Given the description of an element on the screen output the (x, y) to click on. 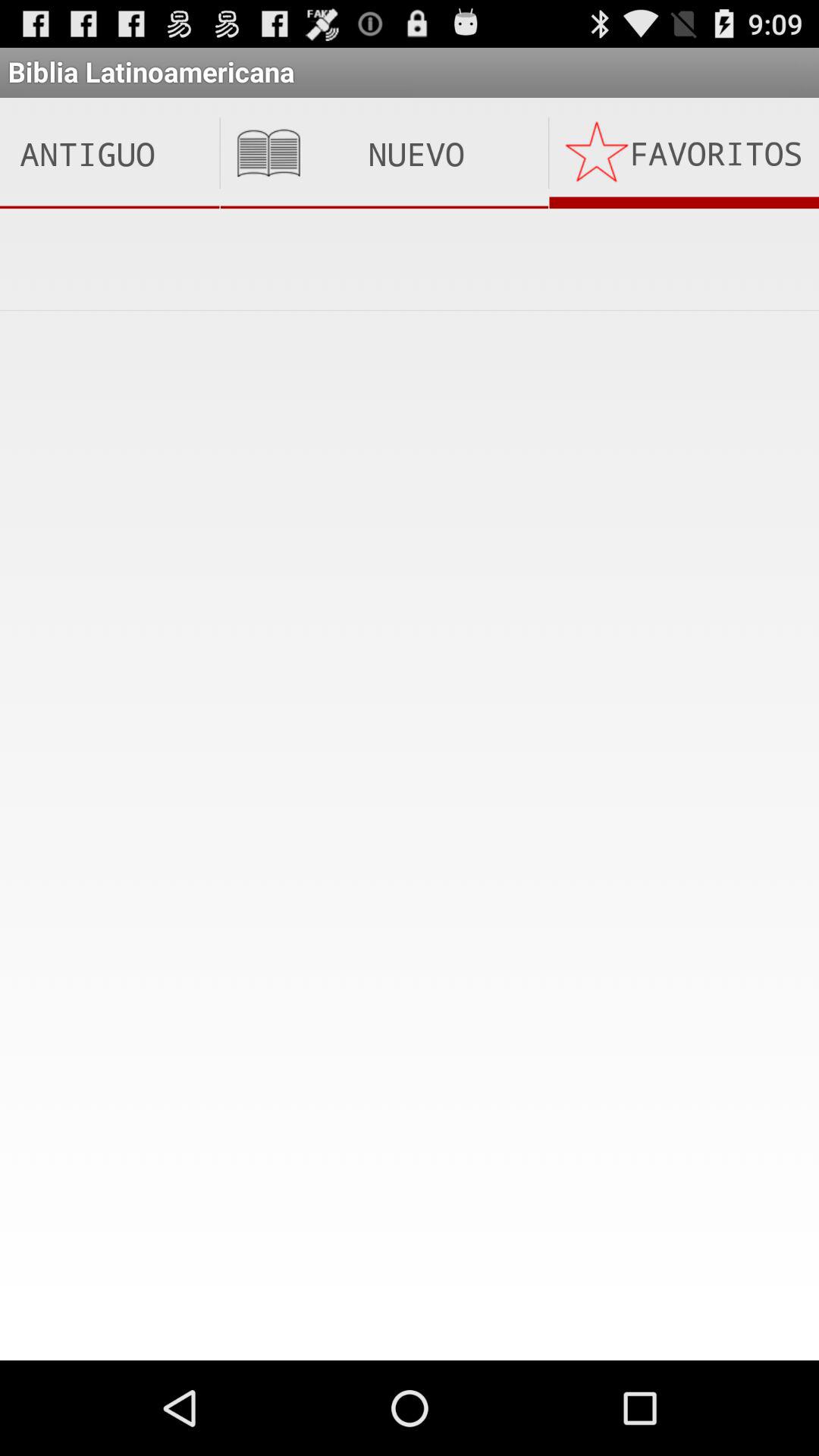
turn on the icon to the right of the nuevo testamento (684, 152)
